Given the description of an element on the screen output the (x, y) to click on. 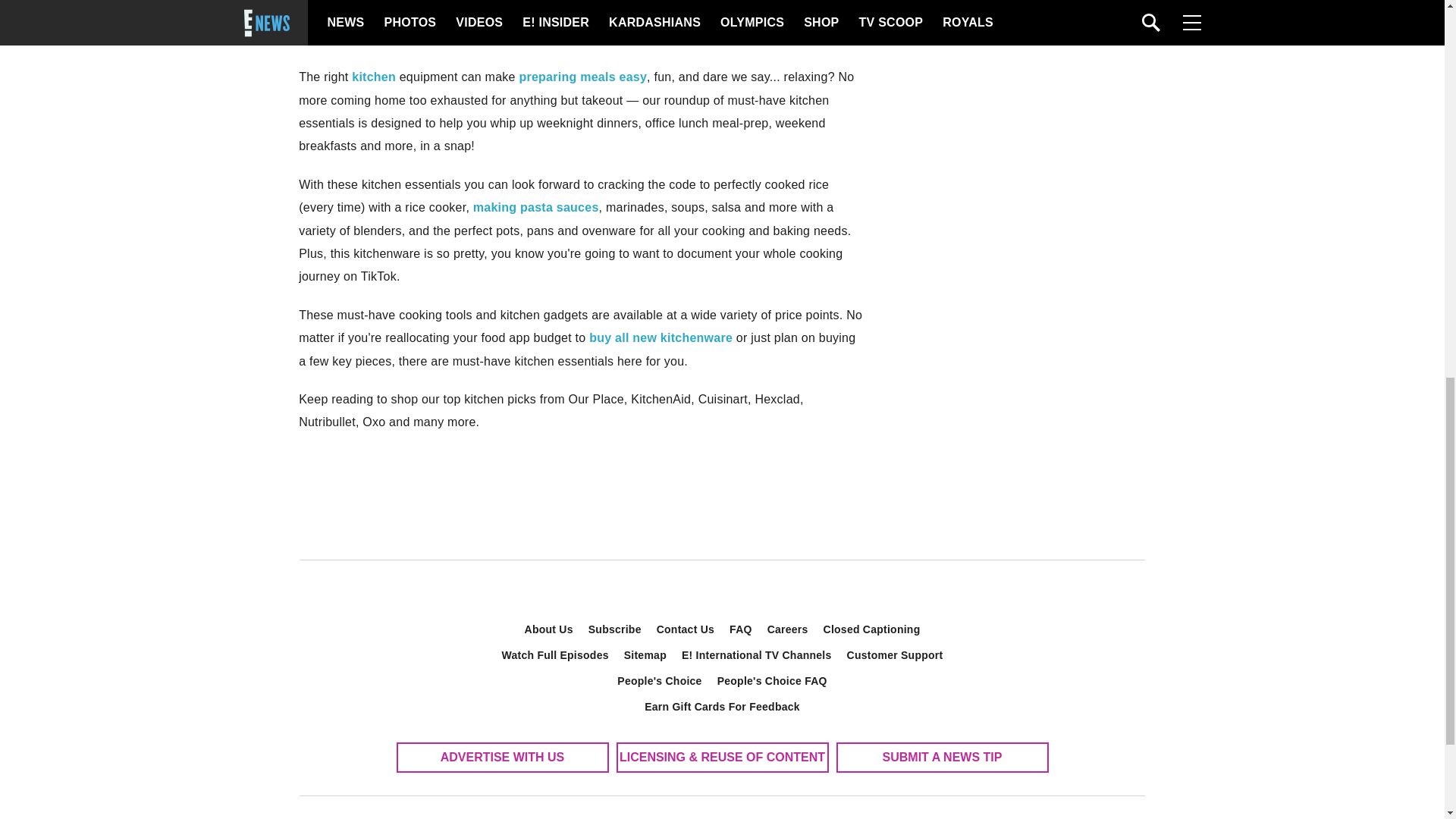
buy all new kitchenware (660, 337)
kitchen (374, 76)
become a kitchen pro (570, 11)
making pasta sauces (535, 206)
preparing meals easy (582, 76)
